Given the description of an element on the screen output the (x, y) to click on. 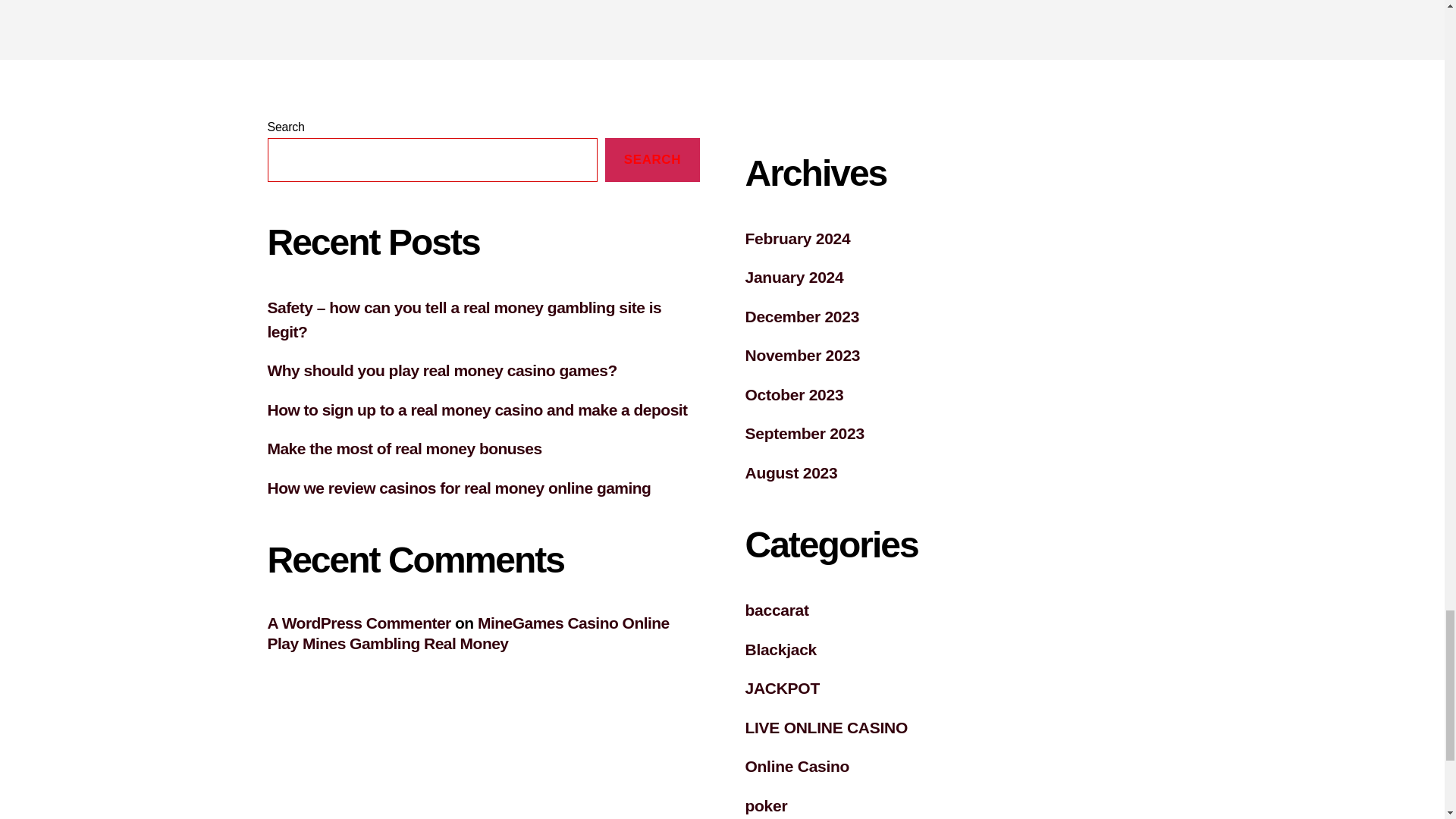
November 2023 (802, 354)
Make the most of real money bonuses (403, 448)
February 2024 (797, 238)
January 2024 (793, 276)
December 2023 (801, 316)
MineGames Casino Online Play Mines Gambling Real Money (467, 632)
baccarat (776, 610)
Blackjack (779, 649)
How we review casinos for real money online gaming (458, 487)
How to sign up to a real money casino and make a deposit (476, 409)
